Given the description of an element on the screen output the (x, y) to click on. 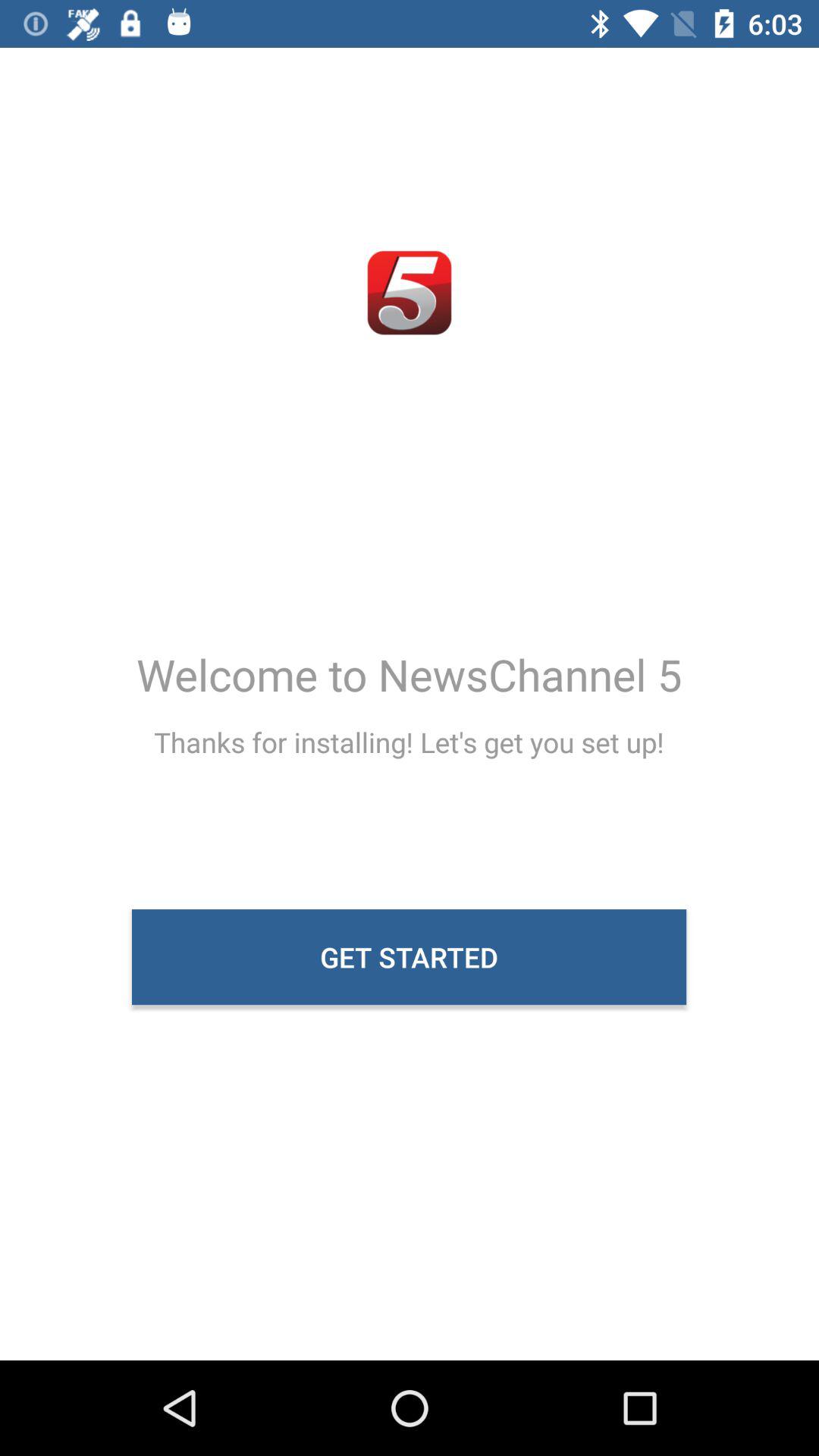
flip to get started item (408, 956)
